Given the description of an element on the screen output the (x, y) to click on. 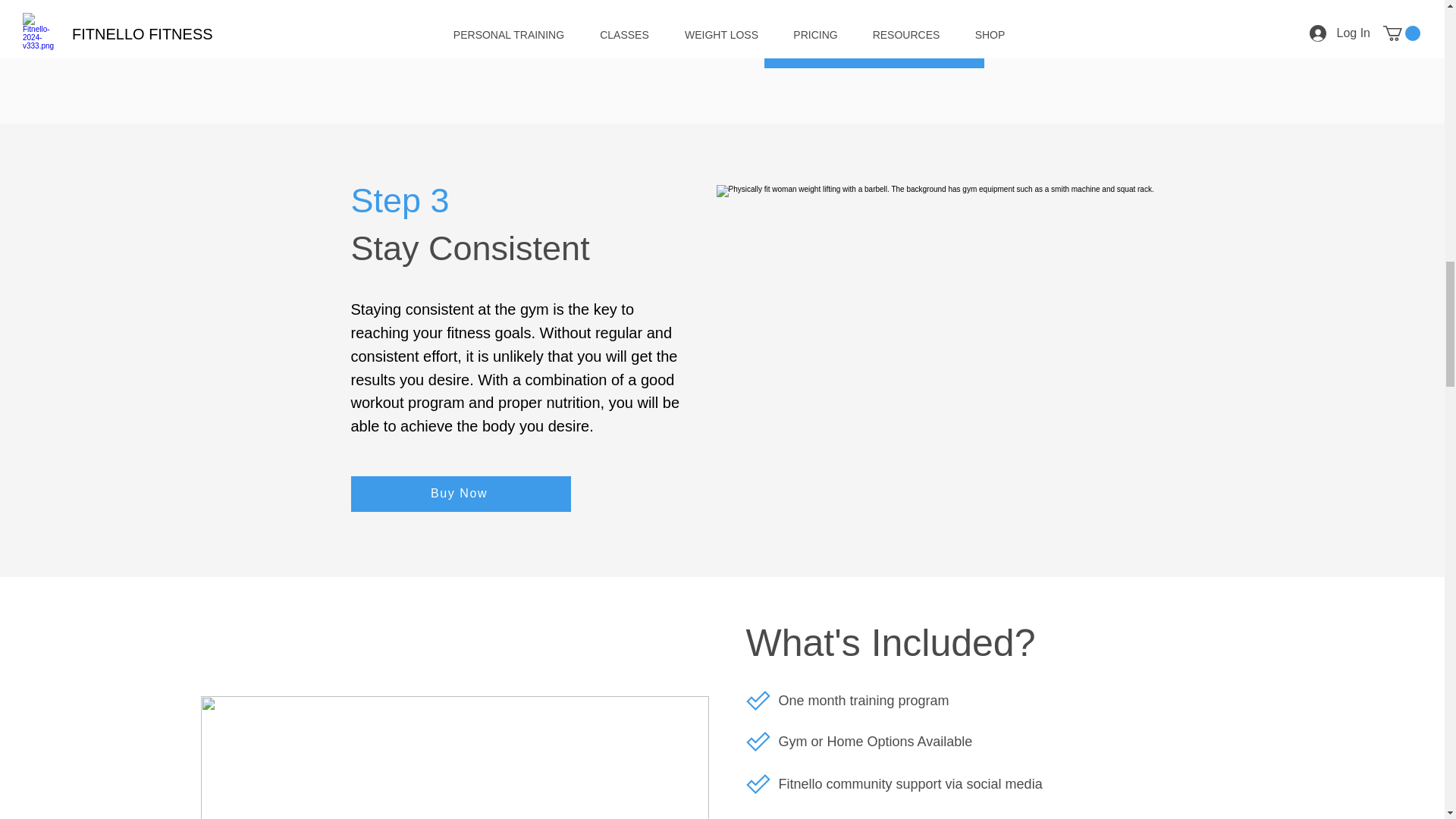
Buy Now (460, 493)
Buy Now (874, 49)
